Given the description of an element on the screen output the (x, y) to click on. 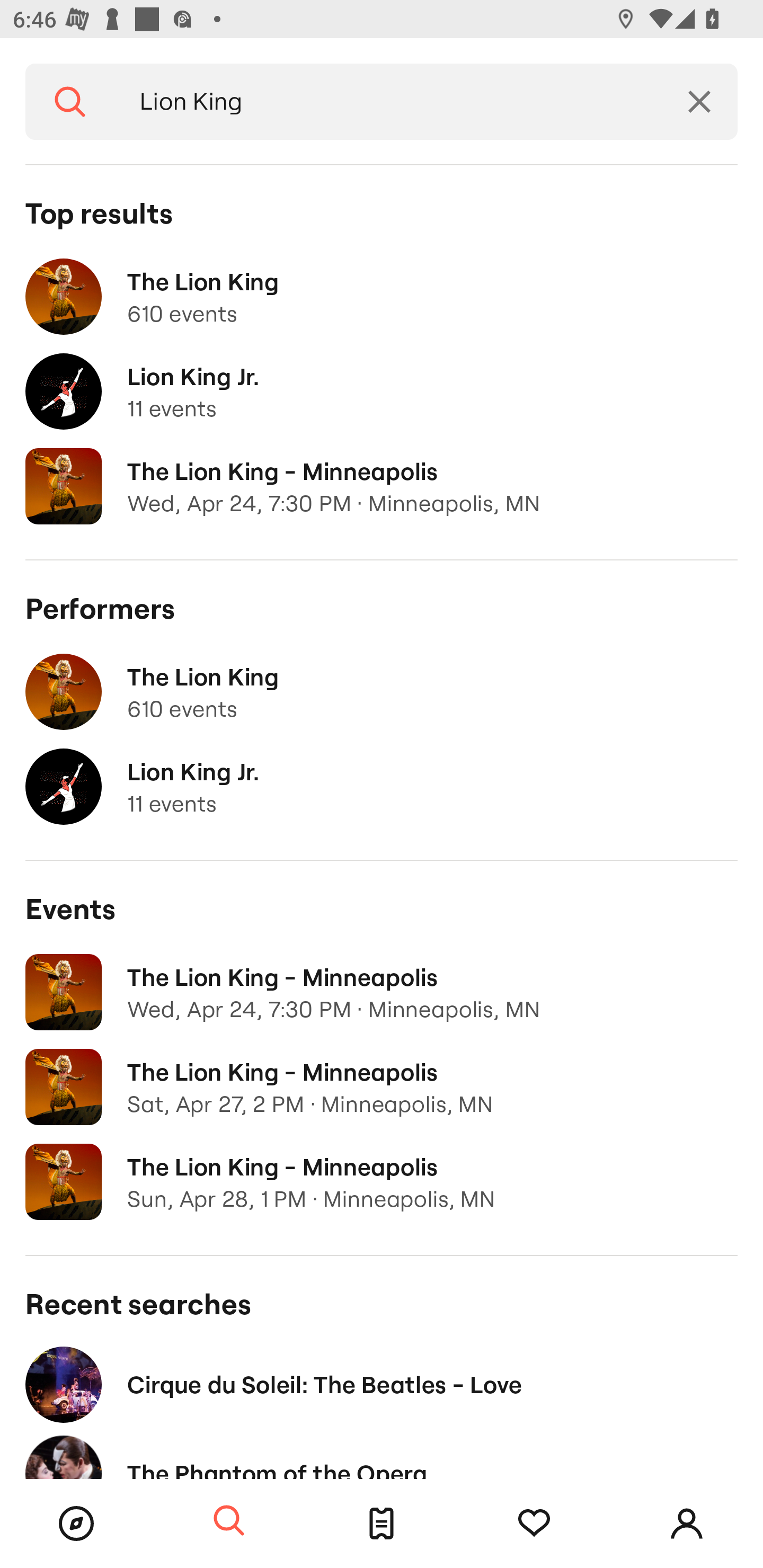
Search (69, 101)
Lion King (387, 101)
Clear (699, 101)
The Lion King 610 events (381, 296)
Lion King Jr. 11 events (381, 391)
The Lion King 610 events (381, 692)
Lion King Jr. 11 events (381, 787)
Cirque du Soleil: The Beatles - Love (381, 1384)
Browse (76, 1523)
Search (228, 1521)
Tickets (381, 1523)
Tracking (533, 1523)
Account (686, 1523)
